Given the description of an element on the screen output the (x, y) to click on. 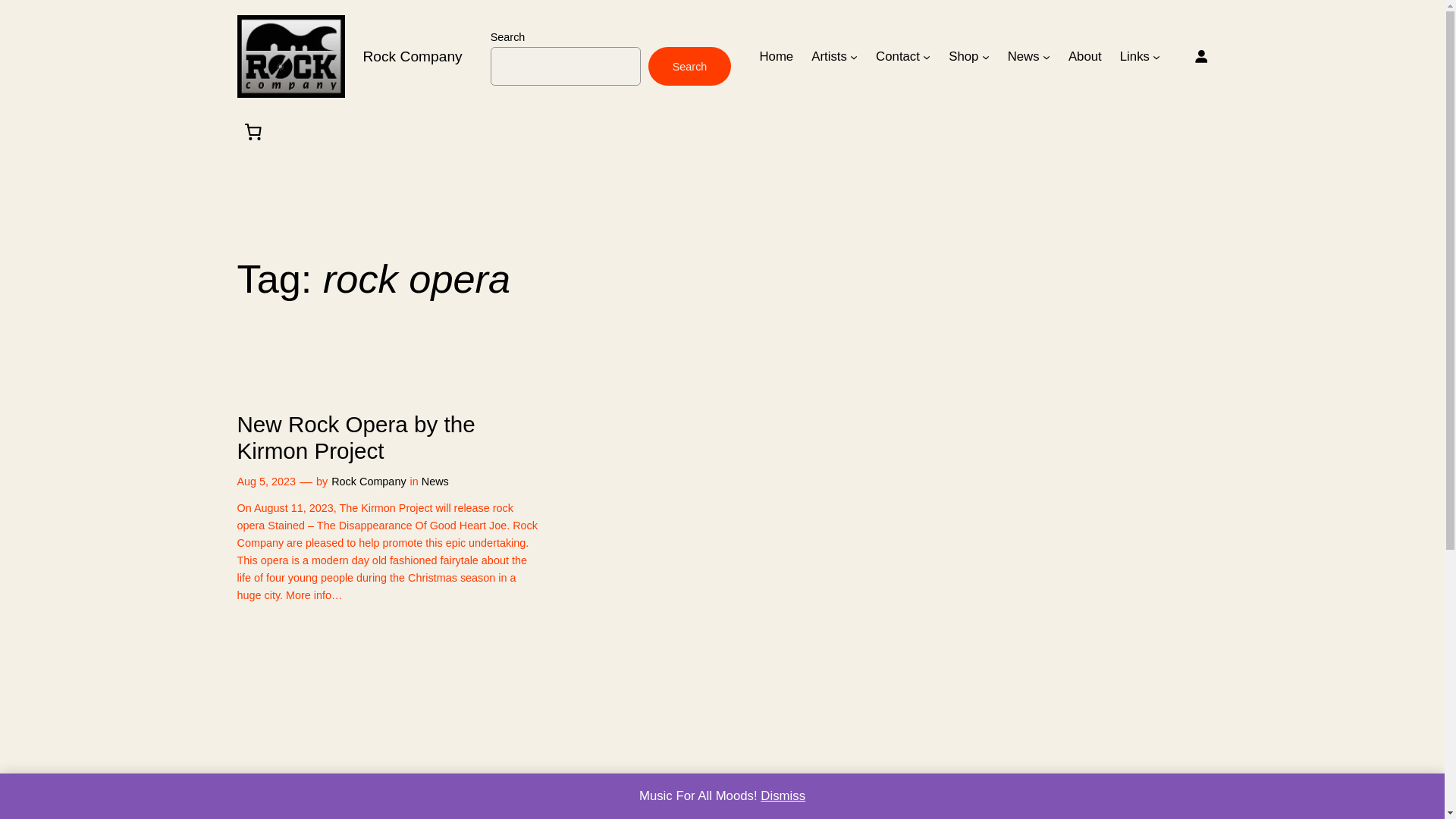
Links (1134, 56)
Home (775, 56)
Artists (828, 56)
About (1085, 56)
Contact (898, 56)
Search (689, 65)
Shop (963, 56)
News (1023, 56)
Rock Company (411, 56)
